Given the description of an element on the screen output the (x, y) to click on. 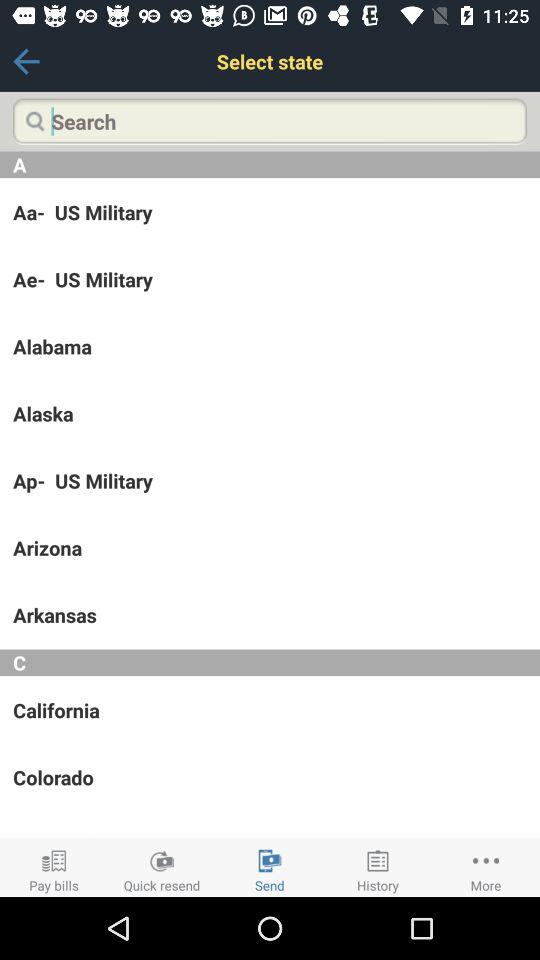
search bar (269, 121)
